Given the description of an element on the screen output the (x, y) to click on. 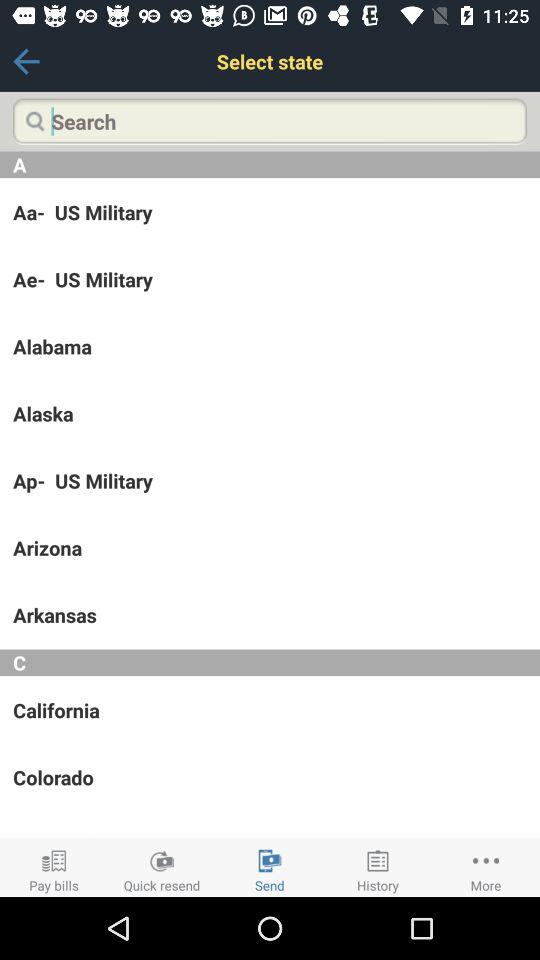
search bar (269, 121)
